Given the description of an element on the screen output the (x, y) to click on. 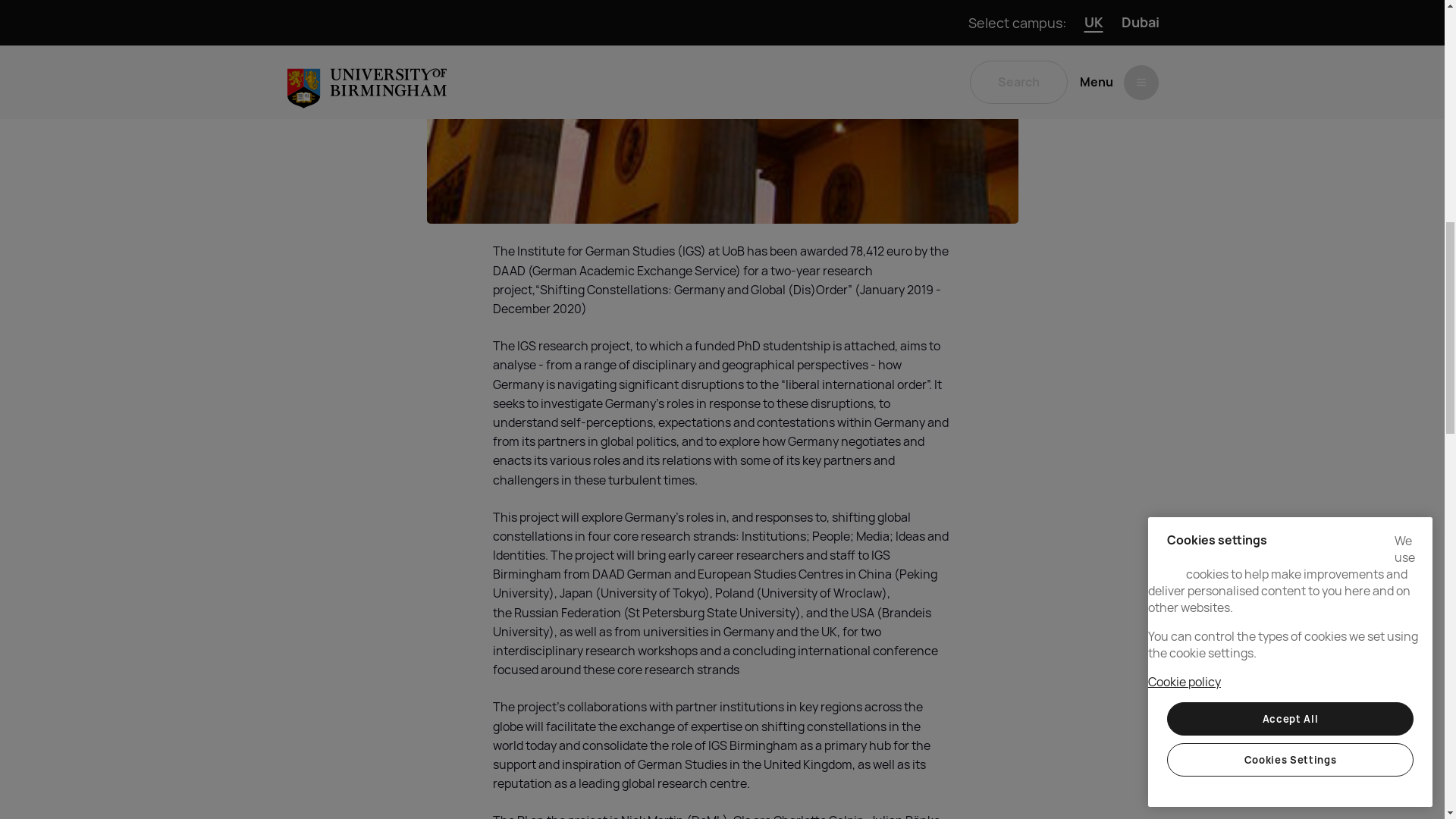
Charlotte Galpin (818, 815)
Nick Martin (652, 815)
Nicholas Martin (652, 815)
